Given the description of an element on the screen output the (x, y) to click on. 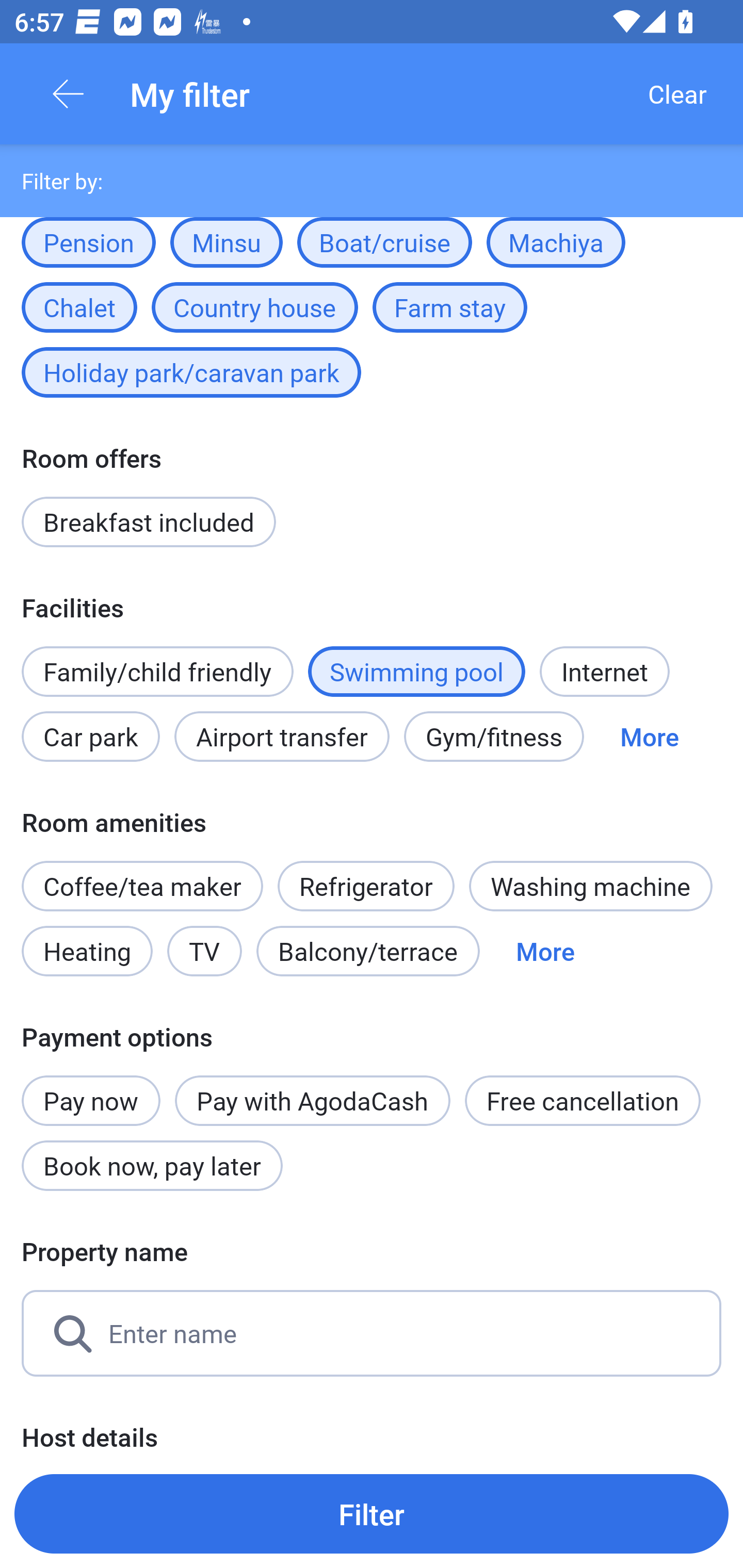
Clear (676, 93)
Breakfast included (148, 522)
Family/child friendly (157, 671)
Internet (604, 671)
Car park (90, 736)
Airport transfer (281, 736)
Gym/fitness (493, 736)
More (649, 736)
Coffee/tea maker (142, 886)
Refrigerator (365, 875)
Washing machine (590, 886)
Heating (87, 950)
TV (204, 950)
Balcony/terrace (367, 950)
More (545, 950)
Pay now (90, 1089)
Pay with AgodaCash (312, 1100)
Free cancellation (582, 1100)
Book now, pay later (152, 1165)
Enter name (371, 1333)
Filter (371, 1513)
